Given the description of an element on the screen output the (x, y) to click on. 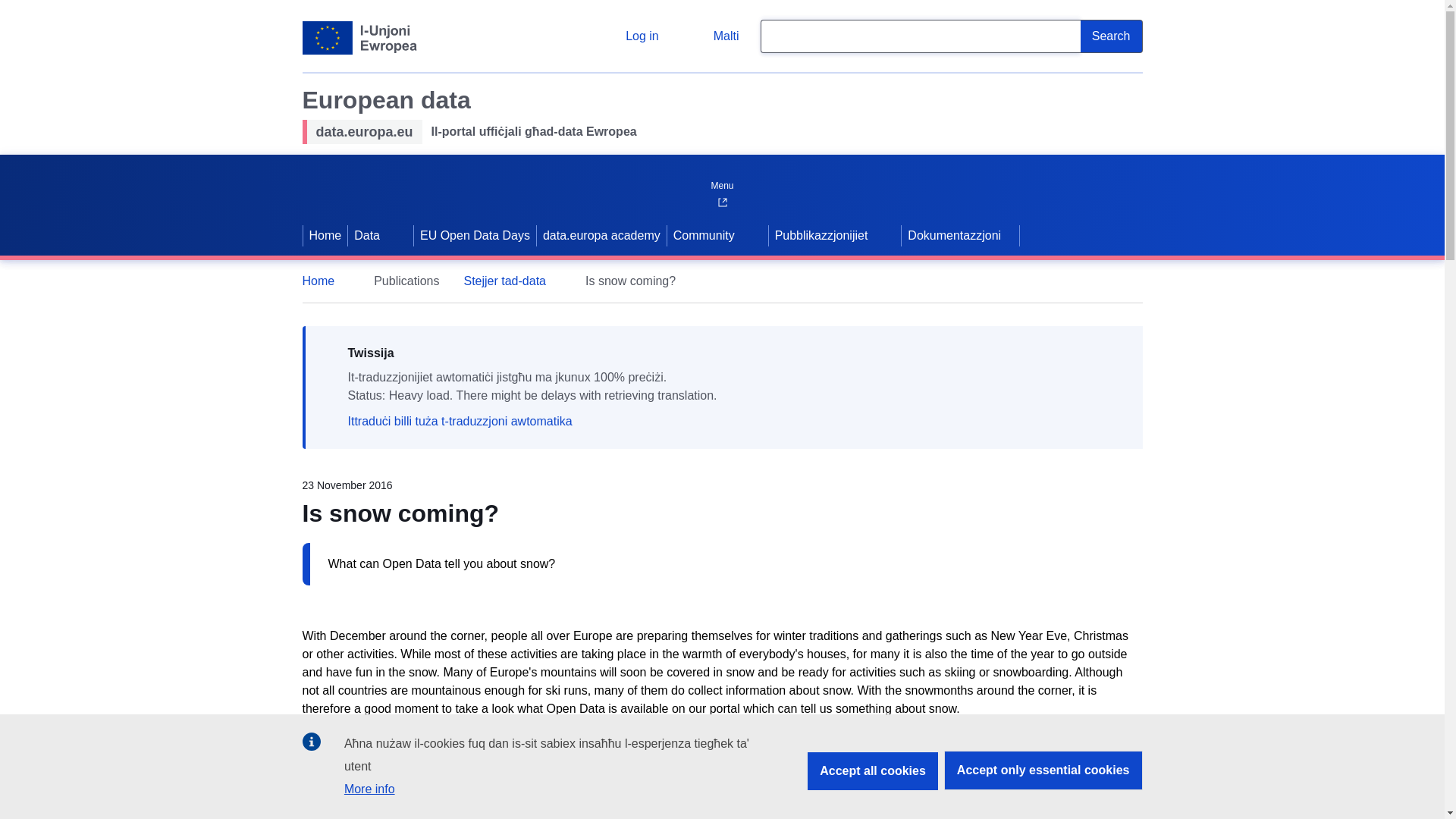
EU Open Data Days (474, 235)
Log in (630, 36)
Menu (721, 181)
European Union (358, 37)
Community (702, 235)
Dokumentazzjoni (960, 235)
Search (1111, 36)
Home (325, 280)
data.europa academy (601, 235)
Pubblikazzjonijiet (819, 235)
Home (324, 235)
Malti (714, 36)
